Given the description of an element on the screen output the (x, y) to click on. 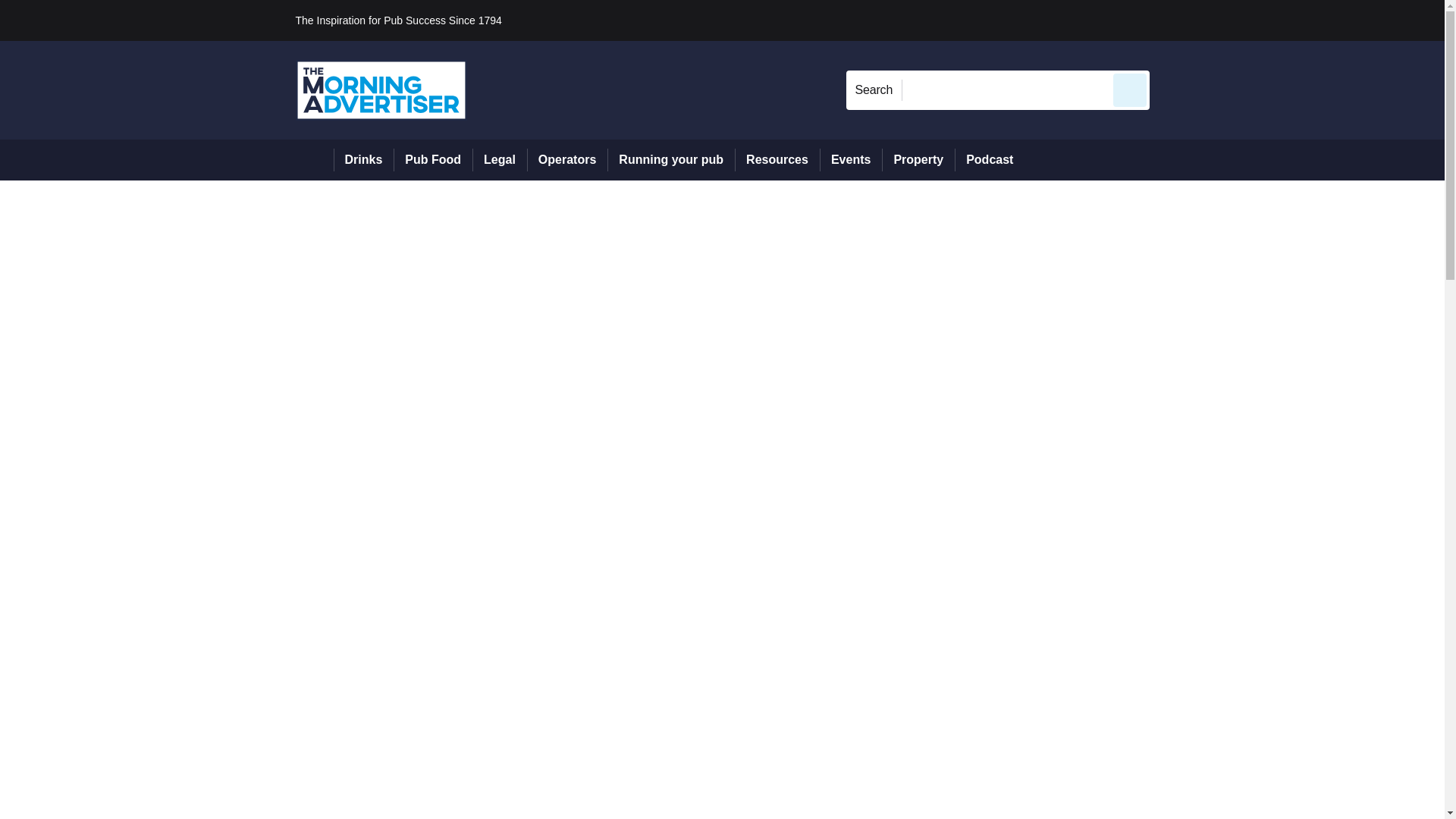
Send (1129, 90)
Send (1129, 89)
The Morning Advertiser (381, 89)
Pub Food (432, 159)
Sign out (1174, 20)
Sign in (1171, 20)
My account (1256, 20)
REGISTER (1250, 20)
Home (314, 159)
Drinks (363, 159)
